Given the description of an element on the screen output the (x, y) to click on. 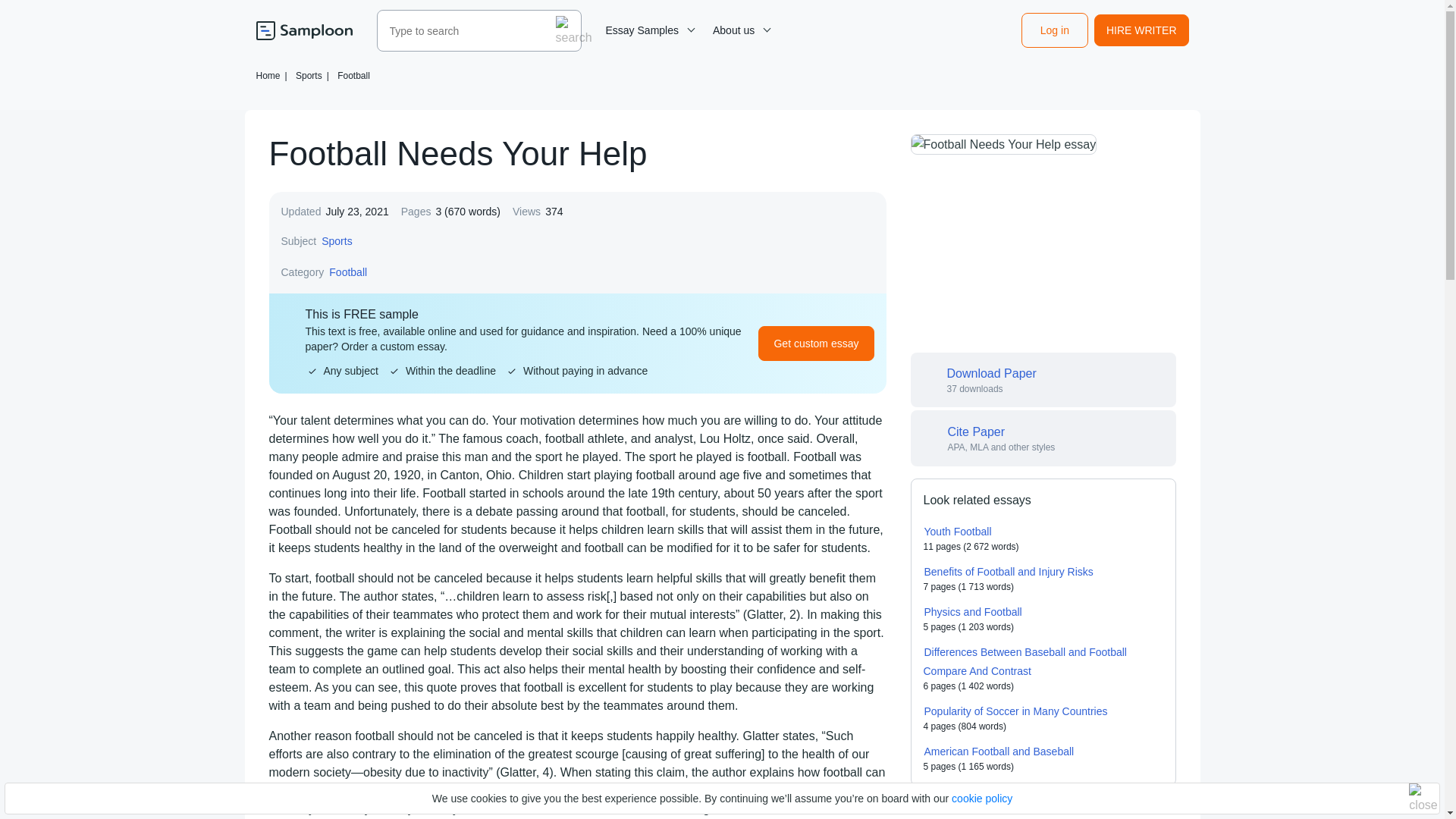
Essay Samples (647, 30)
About us (739, 30)
Football (348, 272)
Football Needs Your Help (1003, 144)
Sports (336, 241)
Football (353, 75)
